Given the description of an element on the screen output the (x, y) to click on. 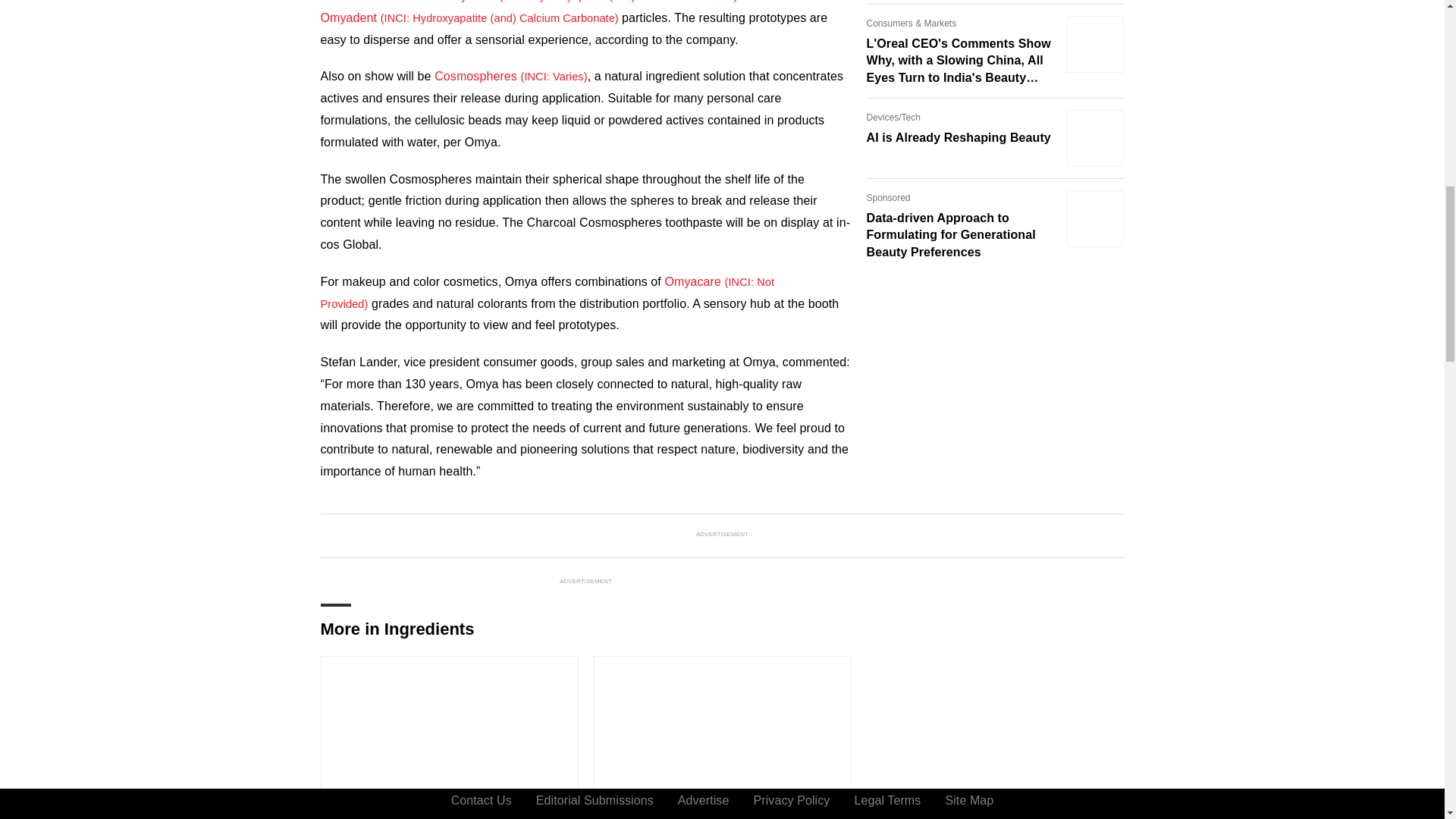
Sponsored (888, 197)
